Given the description of an element on the screen output the (x, y) to click on. 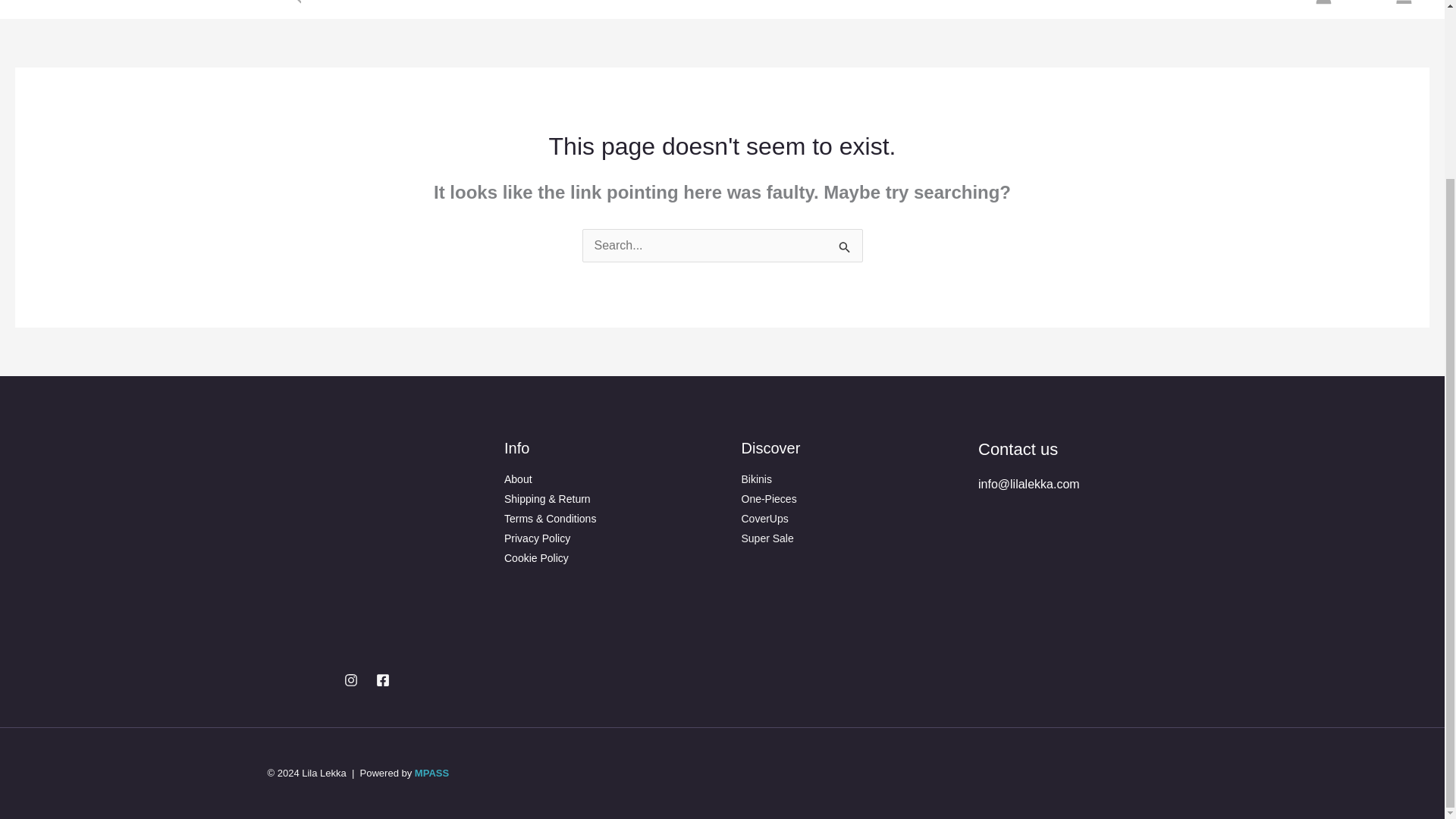
Search (844, 247)
HOME (53, 9)
Search (294, 4)
Search (844, 247)
ABOUT (109, 9)
CONTACT (174, 9)
Search (844, 247)
SHOP (243, 9)
